Given the description of an element on the screen output the (x, y) to click on. 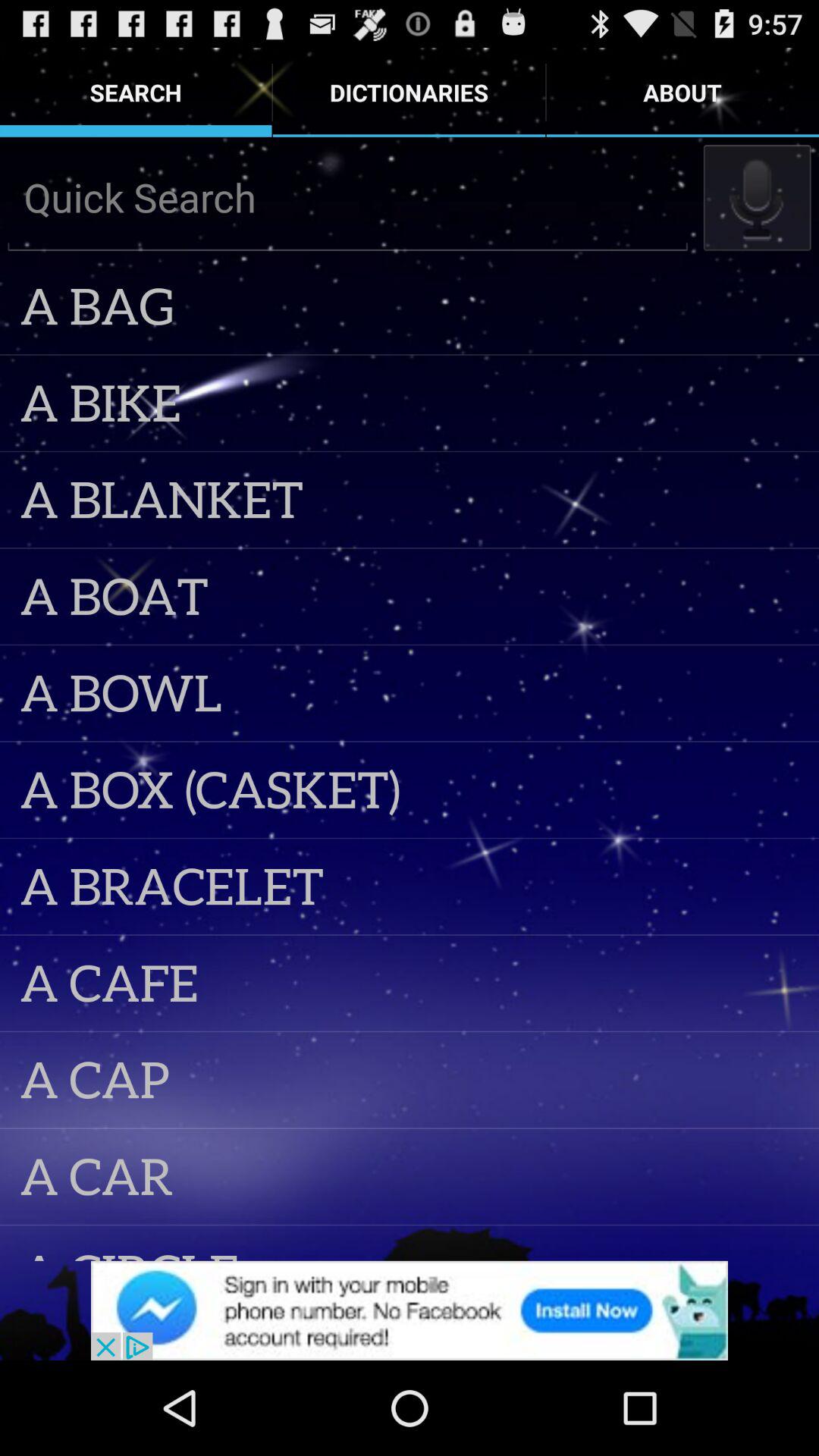
click advertisement (409, 1310)
